Given the description of an element on the screen output the (x, y) to click on. 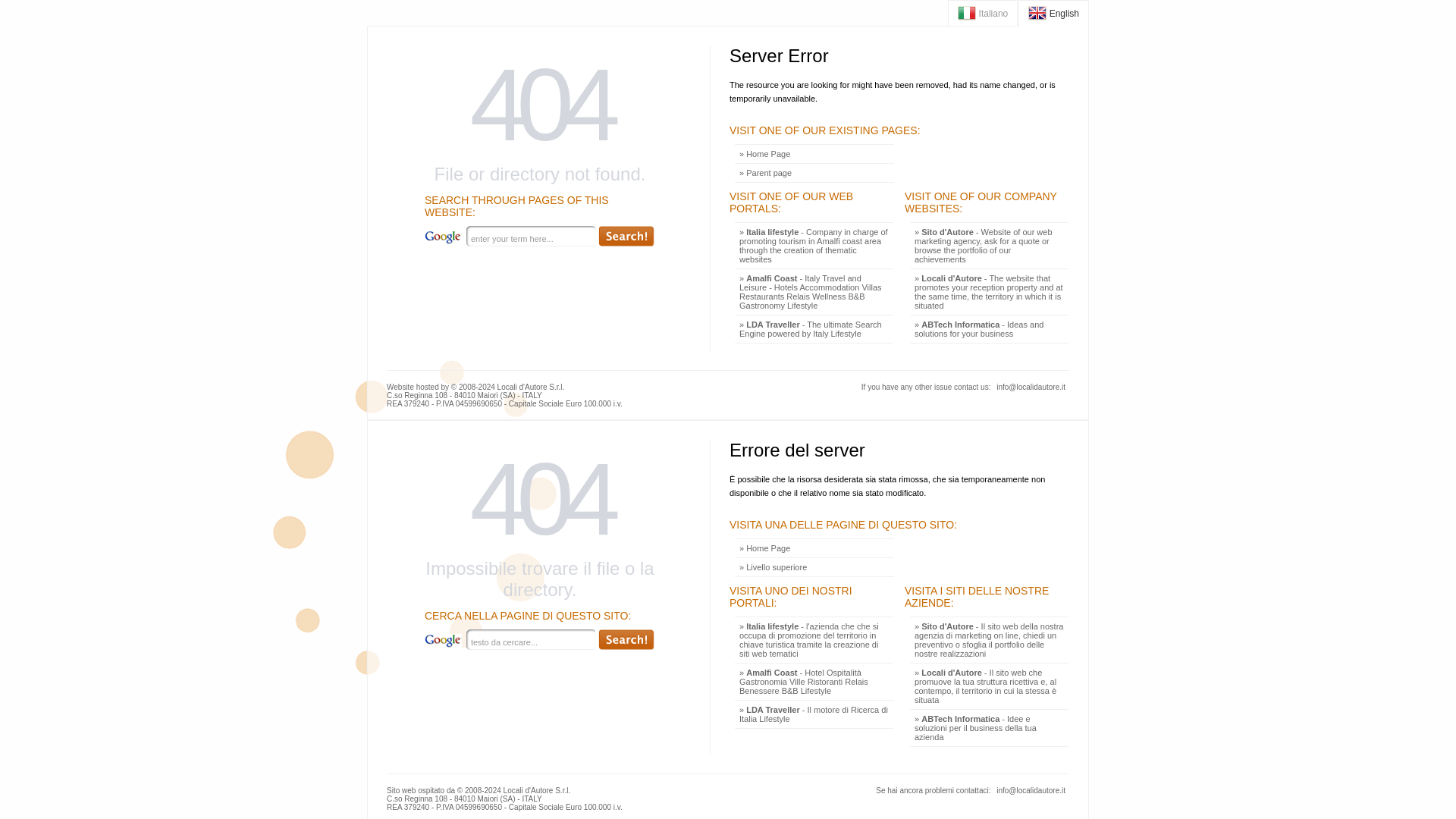
Italiano (982, 13)
English (1053, 13)
testo da cercare... (530, 639)
enter your term here... (530, 236)
testo da cercare... (530, 639)
enter your term here... (530, 236)
